Given the description of an element on the screen output the (x, y) to click on. 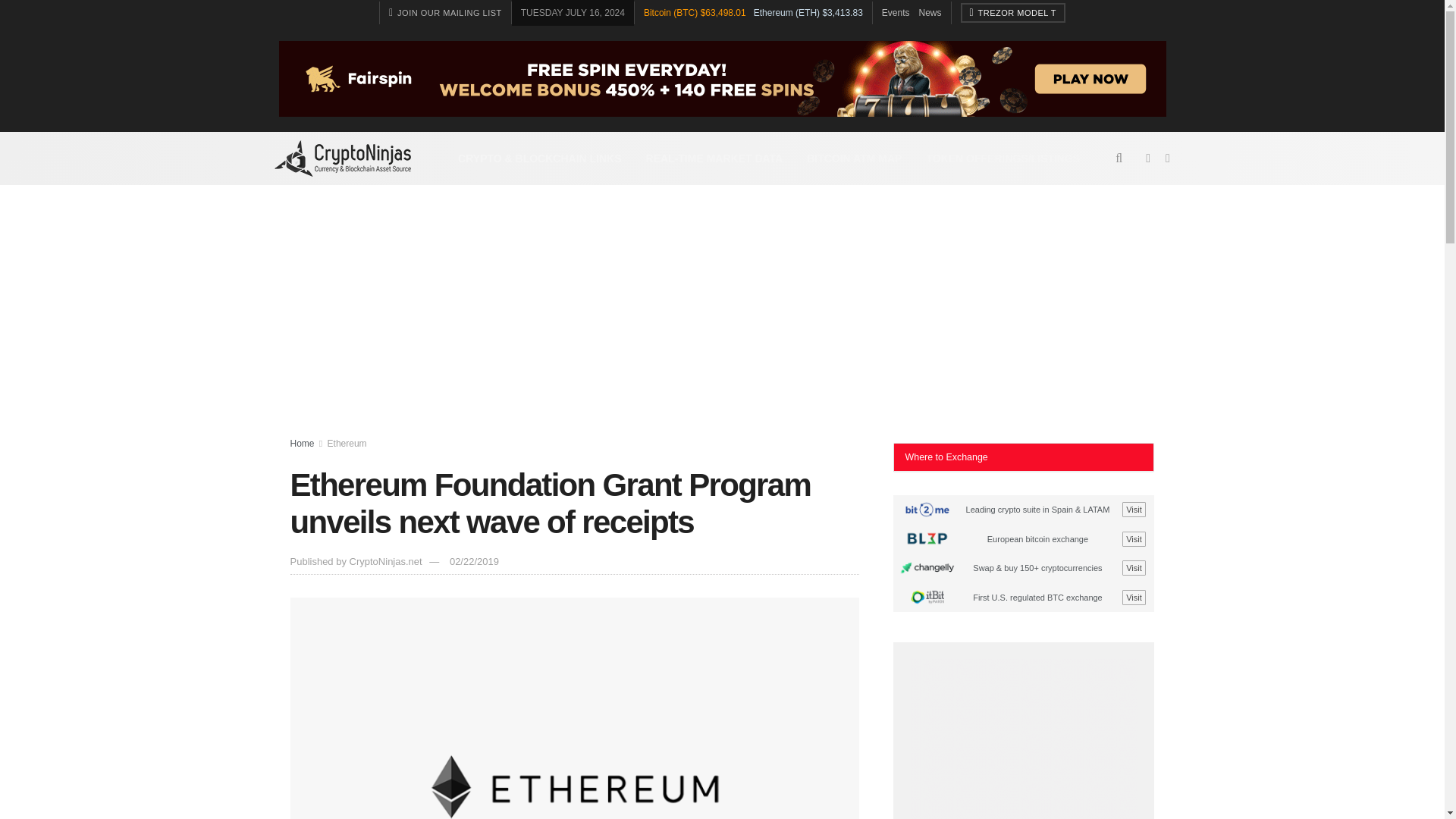
TREZOR MODEL T (1012, 12)
Ethereum (346, 443)
REAL-TIME MARKET DATA (713, 158)
JOIN OUR MAILING LIST (445, 12)
Home (301, 443)
Events (896, 12)
3rd party ad content (1023, 738)
BITCOIN ATM MAP (854, 158)
